Given the description of an element on the screen output the (x, y) to click on. 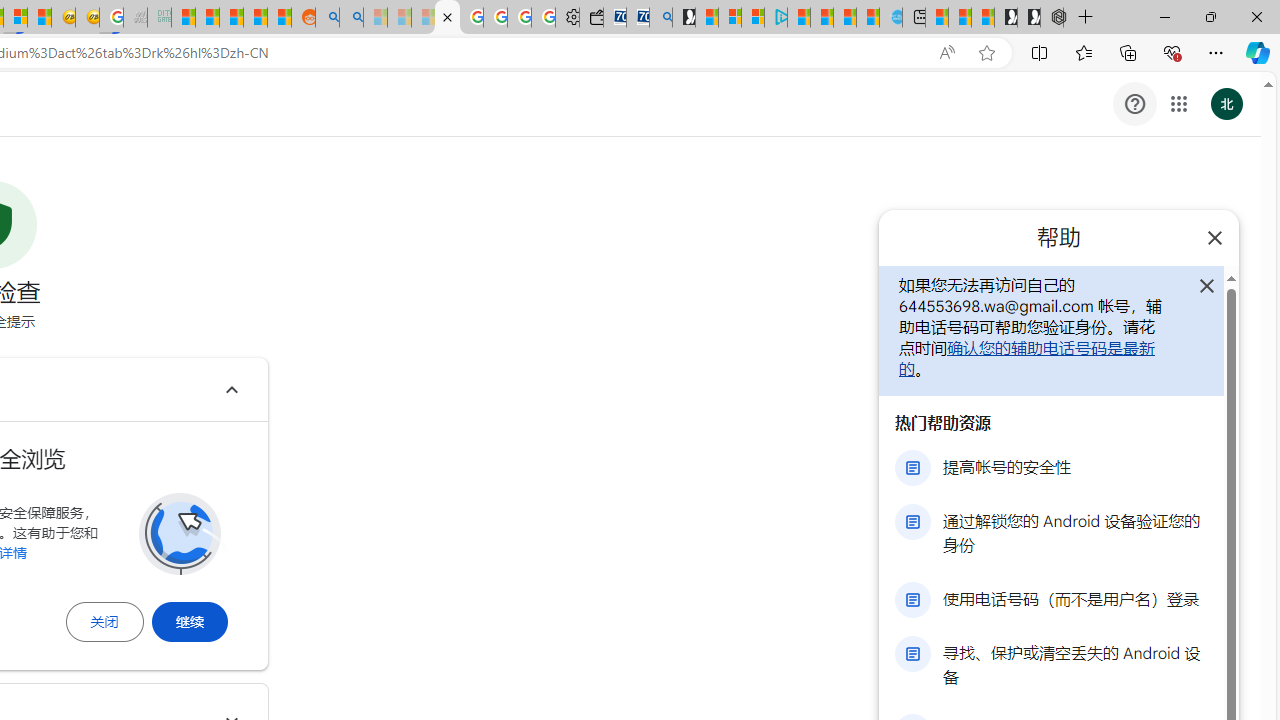
DITOGAMES AG Imprint - Sleeping (159, 17)
Navy Quest (135, 17)
MSNBC - MSN (182, 17)
Class: gb_E (1178, 103)
